Given the description of an element on the screen output the (x, y) to click on. 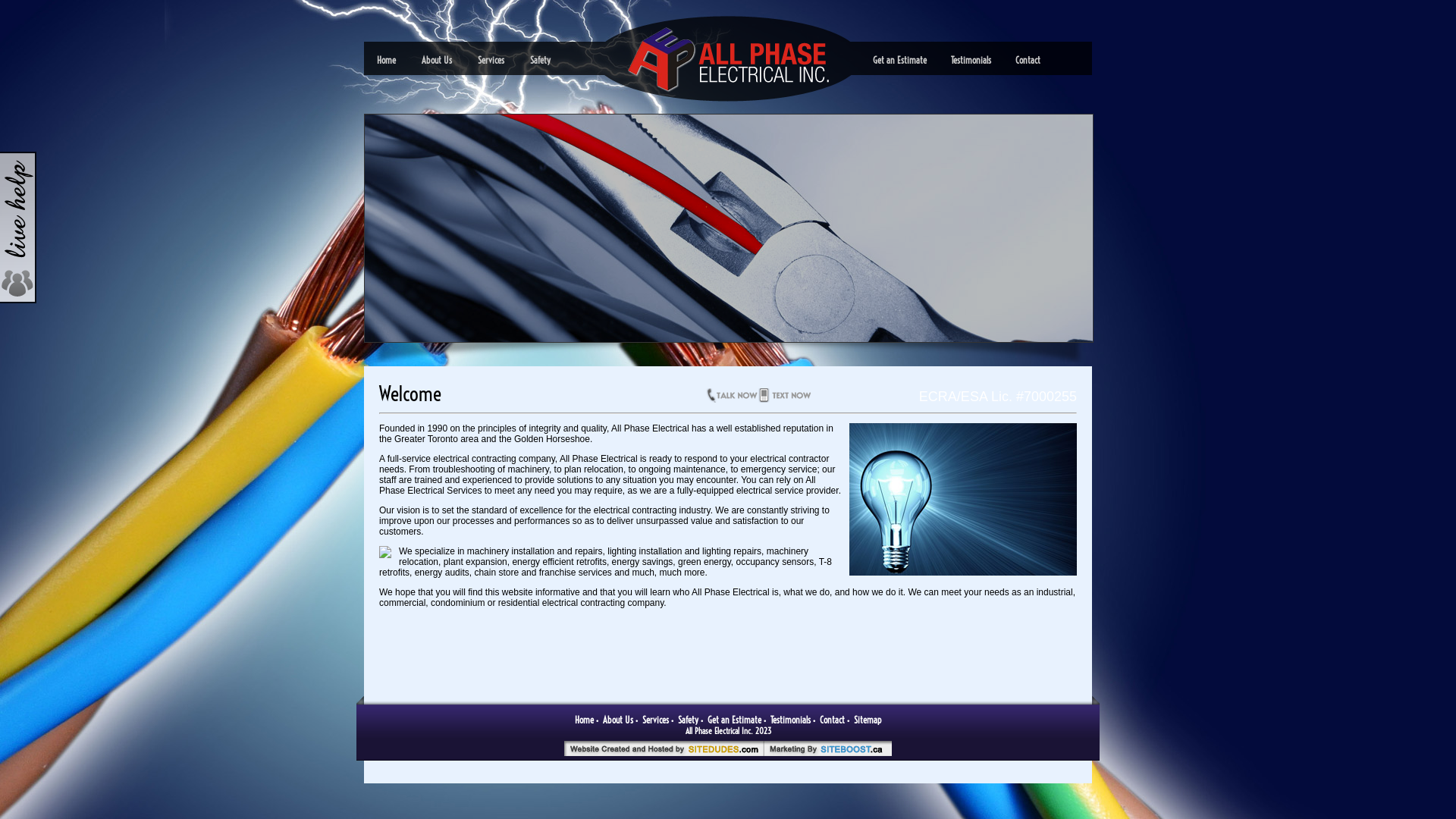
Contact Element type: text (831, 719)
Home Element type: text (583, 719)
Sitemap Element type: text (867, 719)
About Us Element type: text (436, 59)
TEXT NOW Element type: hover (789, 398)
Get an Estimate Element type: text (899, 59)
Services Element type: text (654, 719)
Get an Estimate Element type: text (733, 719)
Services Element type: text (490, 59)
Contact Element type: text (1027, 59)
Safety Element type: text (540, 59)
Testimonials Element type: text (790, 719)
About Us Element type: text (617, 719)
Testimonials Element type: text (970, 59)
Home Element type: text (386, 59)
Safety Element type: text (687, 719)
